Given the description of an element on the screen output the (x, y) to click on. 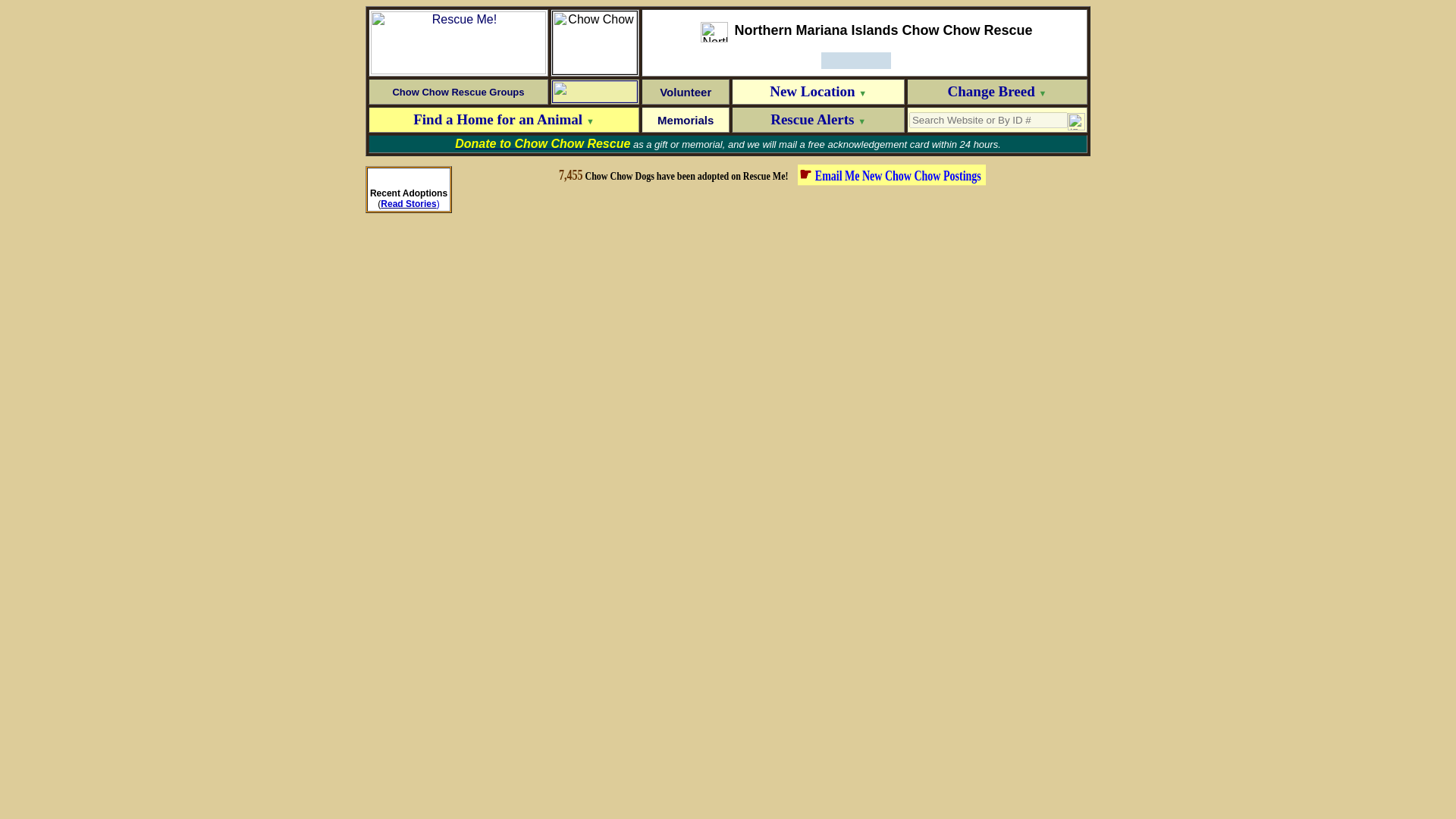
Chow Chow Rescue Groups (457, 91)
Donate to Chow Chow Rescue (542, 143)
Volunteer (685, 91)
Read Stories (407, 204)
Memorials (685, 119)
Email Me New Chow Chow Postings  (899, 173)
